Given the description of an element on the screen output the (x, y) to click on. 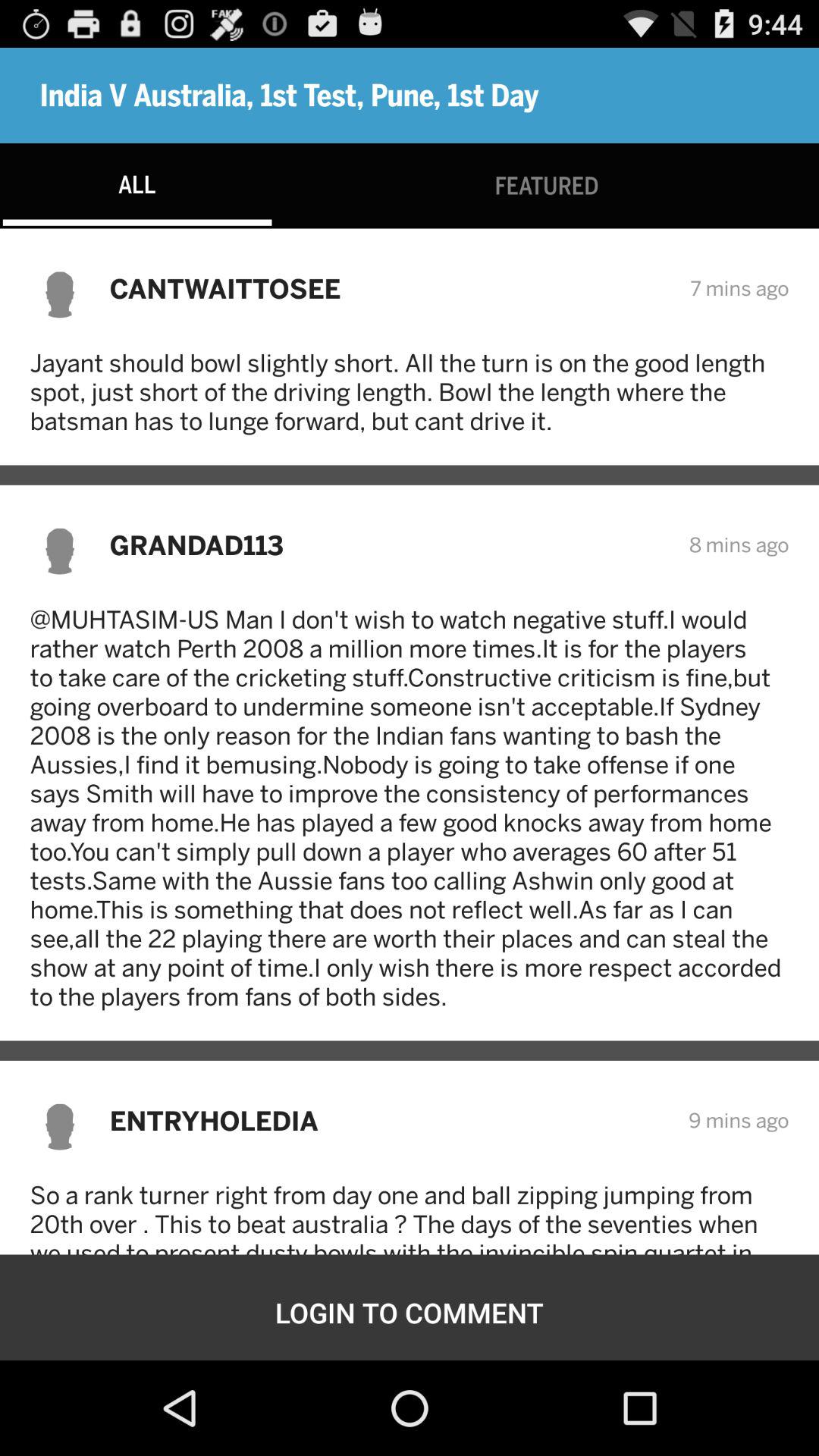
select icon to the left of 8 mins ago (389, 544)
